Given the description of an element on the screen output the (x, y) to click on. 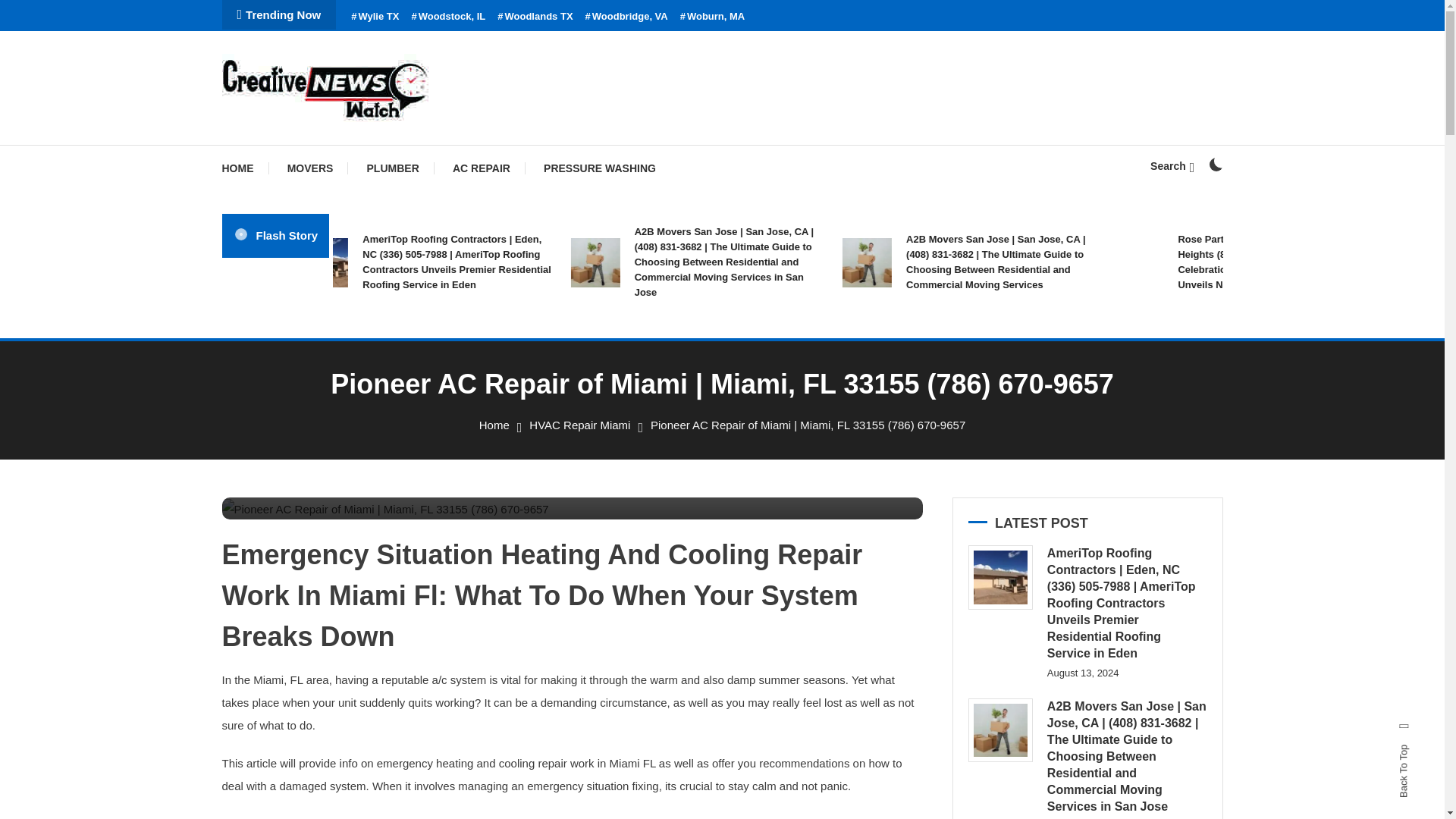
Search (768, 434)
Wylie TX (374, 16)
Woodlands TX (534, 16)
Woburn, MA (712, 16)
PLUMBER (392, 167)
HOME (244, 167)
Woodstock, IL (447, 16)
AC REPAIR (481, 167)
Home (494, 424)
Creative News Watch (358, 142)
